Given the description of an element on the screen output the (x, y) to click on. 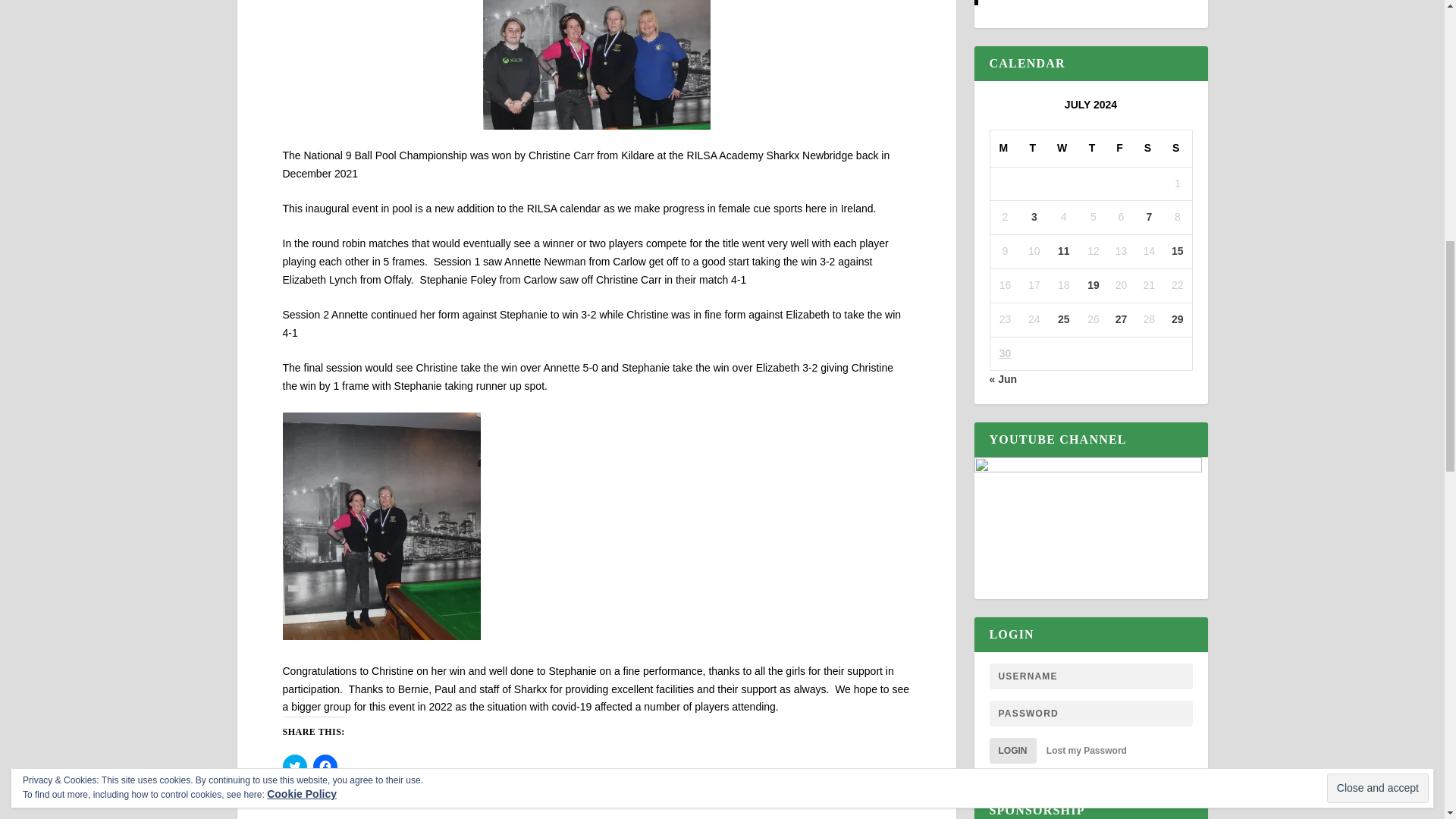
Click to share on Twitter (293, 766)
Click to share on Facebook (324, 766)
